Given the description of an element on the screen output the (x, y) to click on. 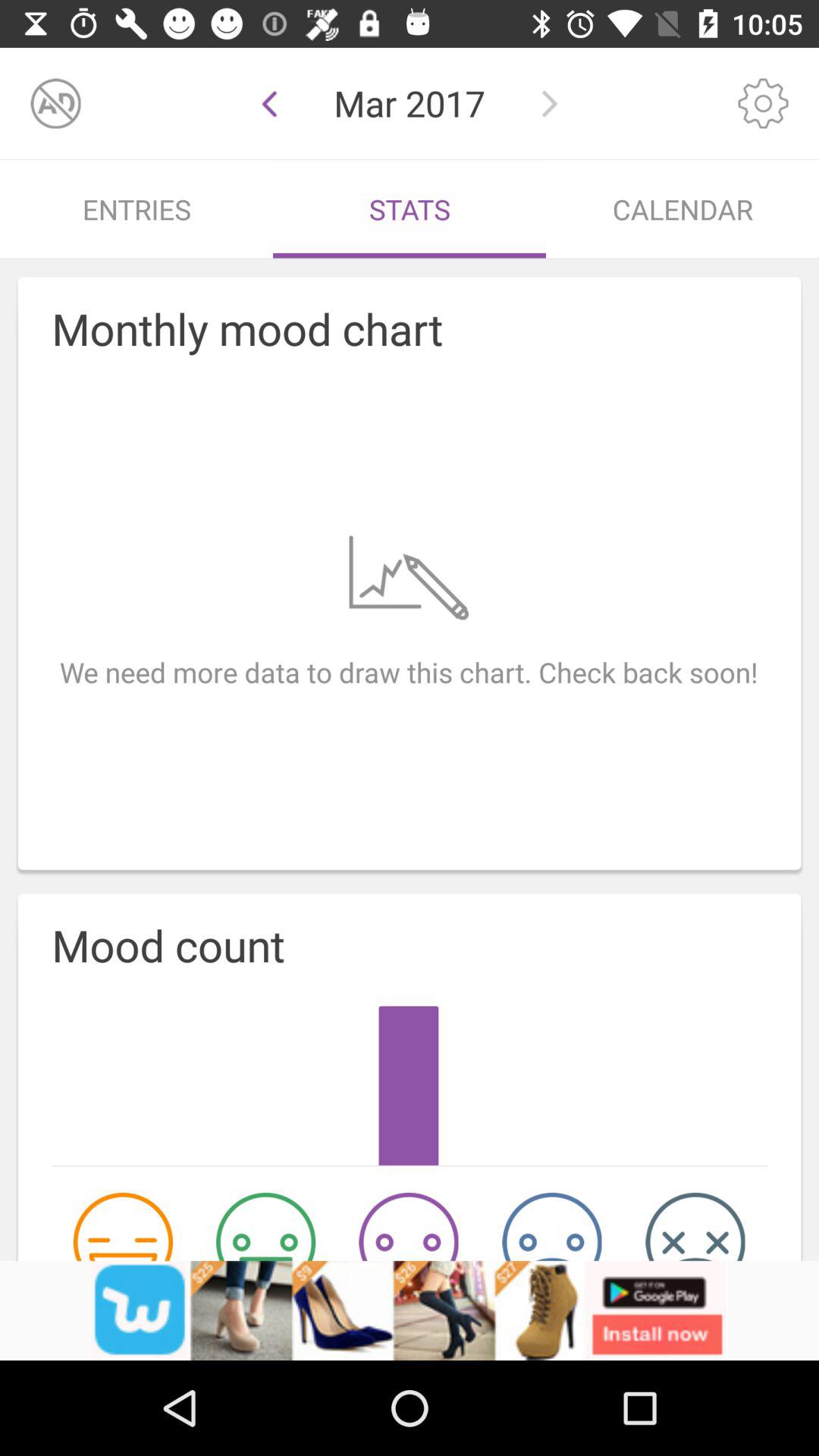
setting he option (763, 103)
